Given the description of an element on the screen output the (x, y) to click on. 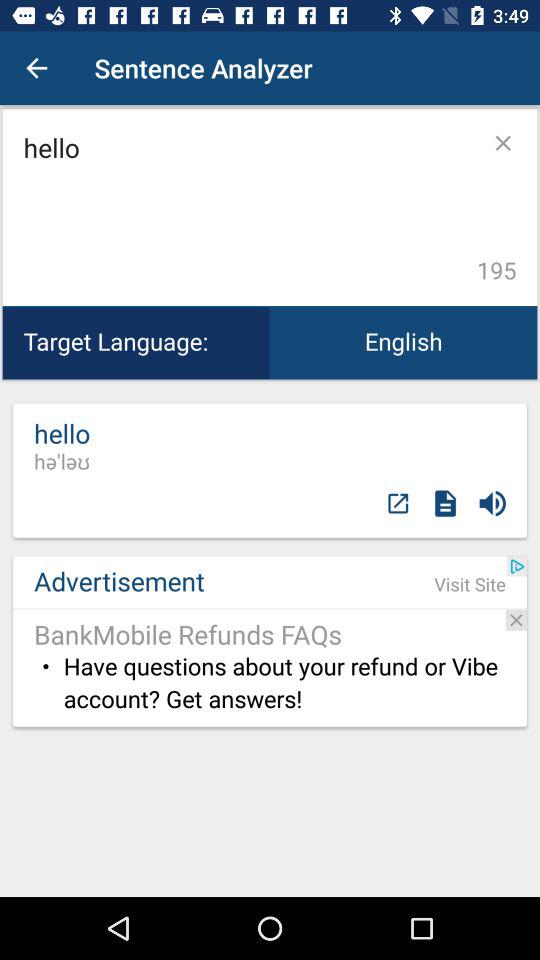
go to the text which is above the text advertisement (61, 446)
click on the word advertisement (269, 641)
